Given the description of an element on the screen output the (x, y) to click on. 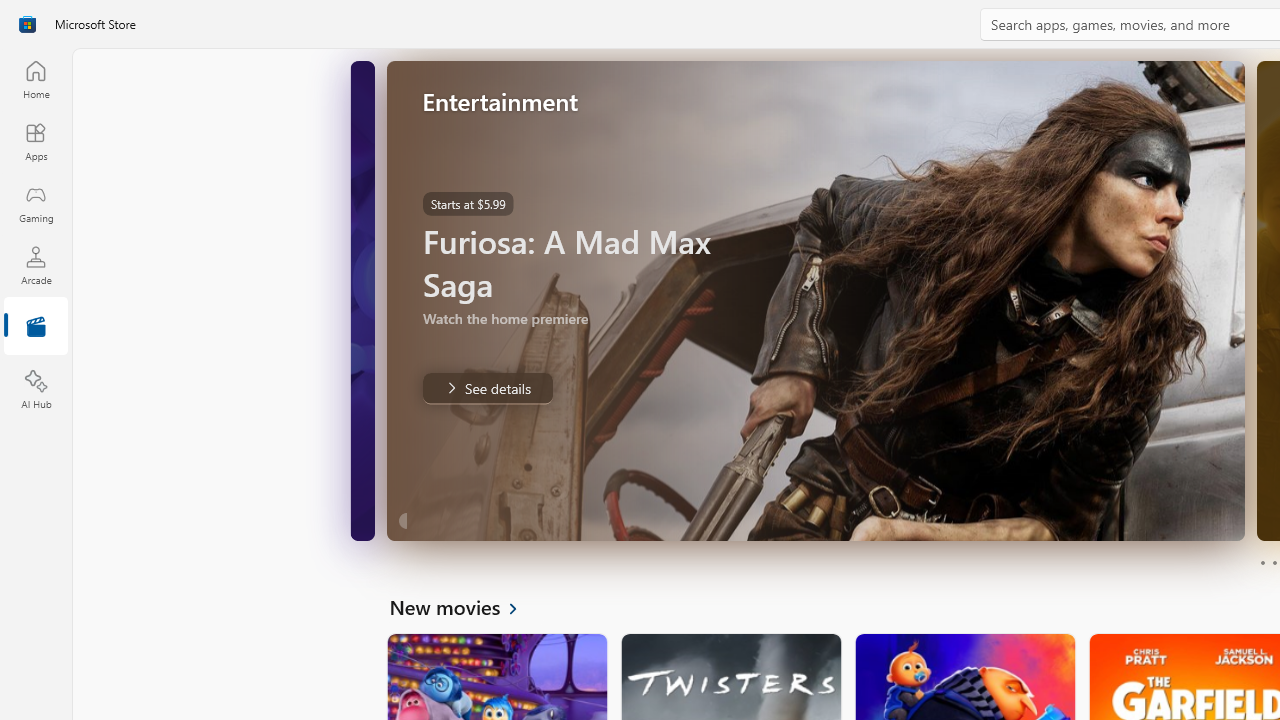
AI Hub (35, 390)
AutomationID: Image (815, 300)
Page 1 (1261, 562)
See all  New movies (464, 606)
Gaming (35, 203)
Arcade (35, 265)
Home (35, 79)
Page 2 (1274, 562)
